Given the description of an element on the screen output the (x, y) to click on. 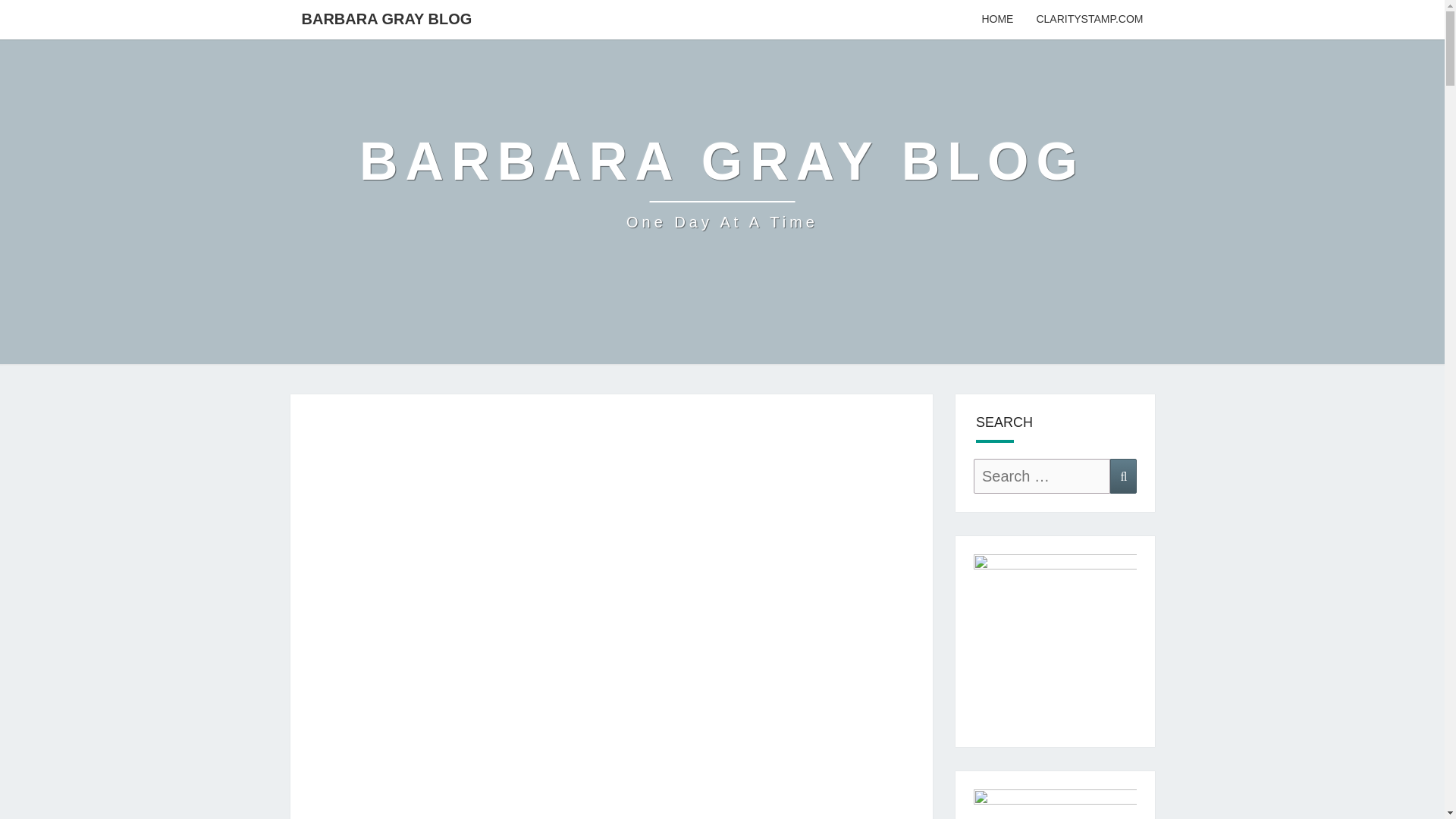
HOME (997, 19)
BARBARA GRAY BLOG (386, 18)
Search for: (1041, 475)
Barbara Gray Blog (721, 181)
CLARITYSTAMP.COM (721, 181)
